Given the description of an element on the screen output the (x, y) to click on. 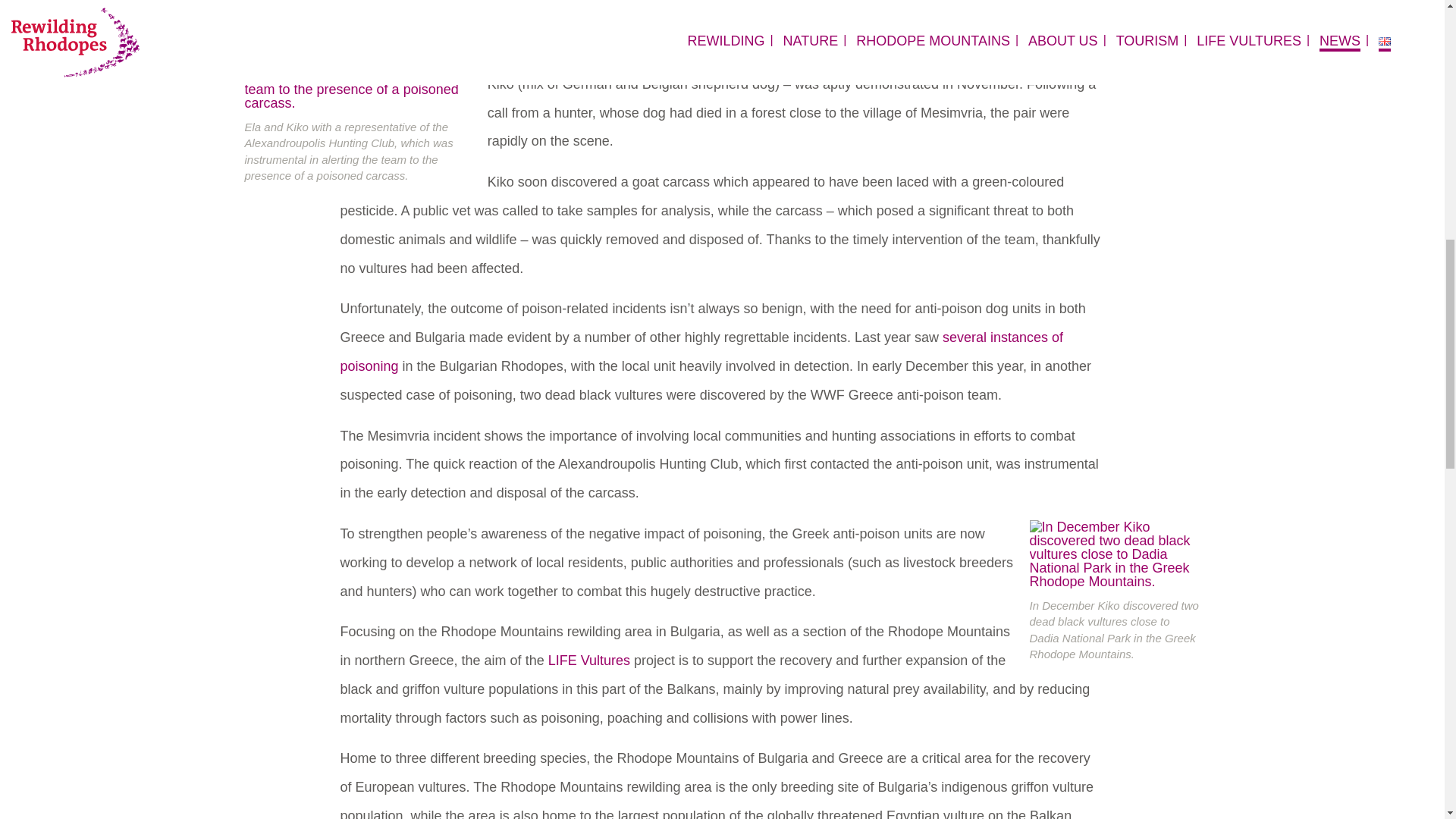
several instances of poisoning (700, 351)
LIFE Vultures (589, 660)
